Given the description of an element on the screen output the (x, y) to click on. 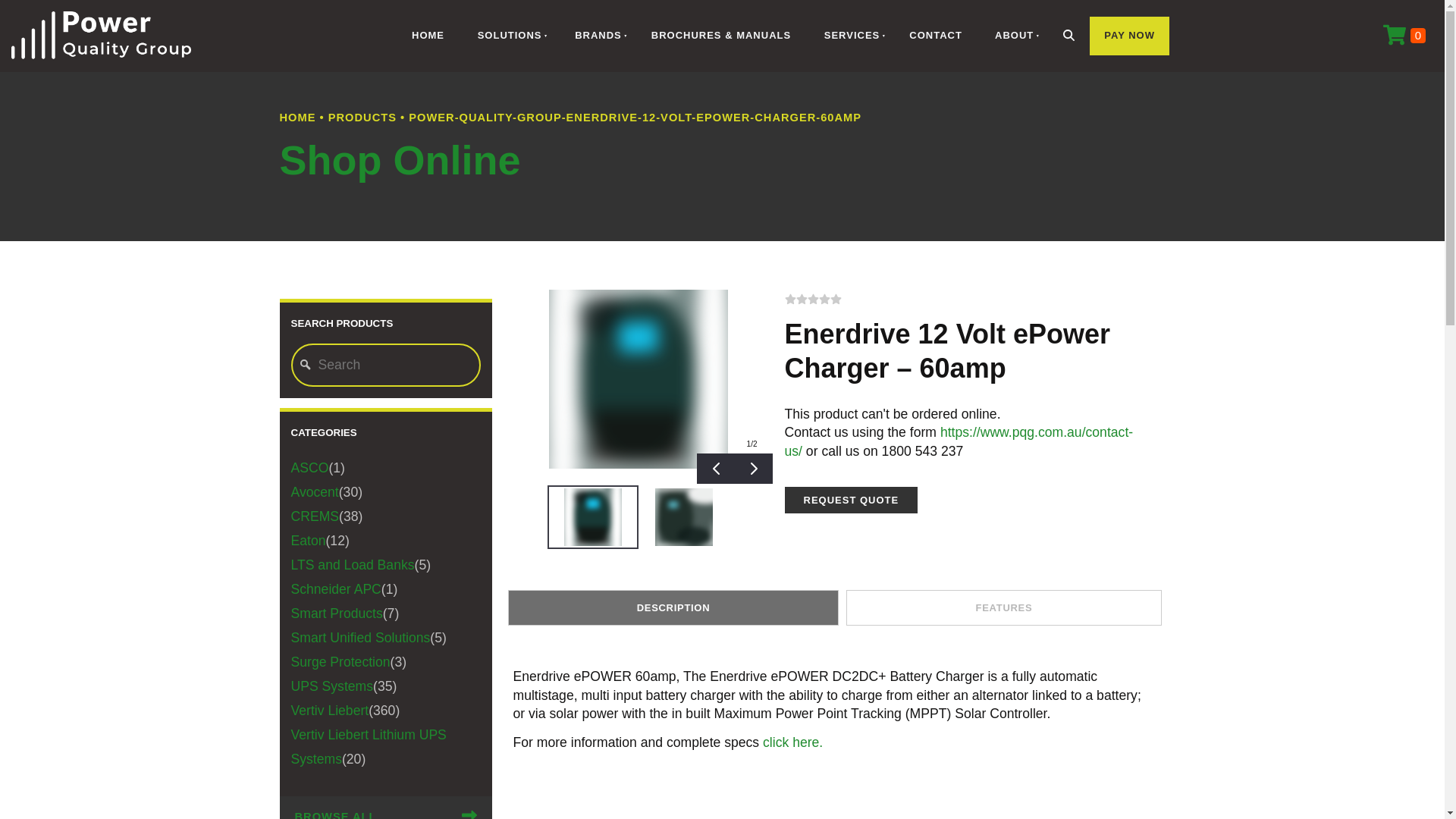
ABOUT (1012, 35)
PAY NOW (1129, 35)
POWER-QUALITY-GROUP-ENERDRIVE-12-VOLT-EPOWER-CHARGER-60AMP (635, 117)
HOME (297, 117)
SOLUTIONS (508, 35)
CONTACT (935, 35)
HOME (428, 35)
BRANDS (596, 35)
PRODUCTS (362, 117)
SERVICES (850, 35)
